Given the description of an element on the screen output the (x, y) to click on. 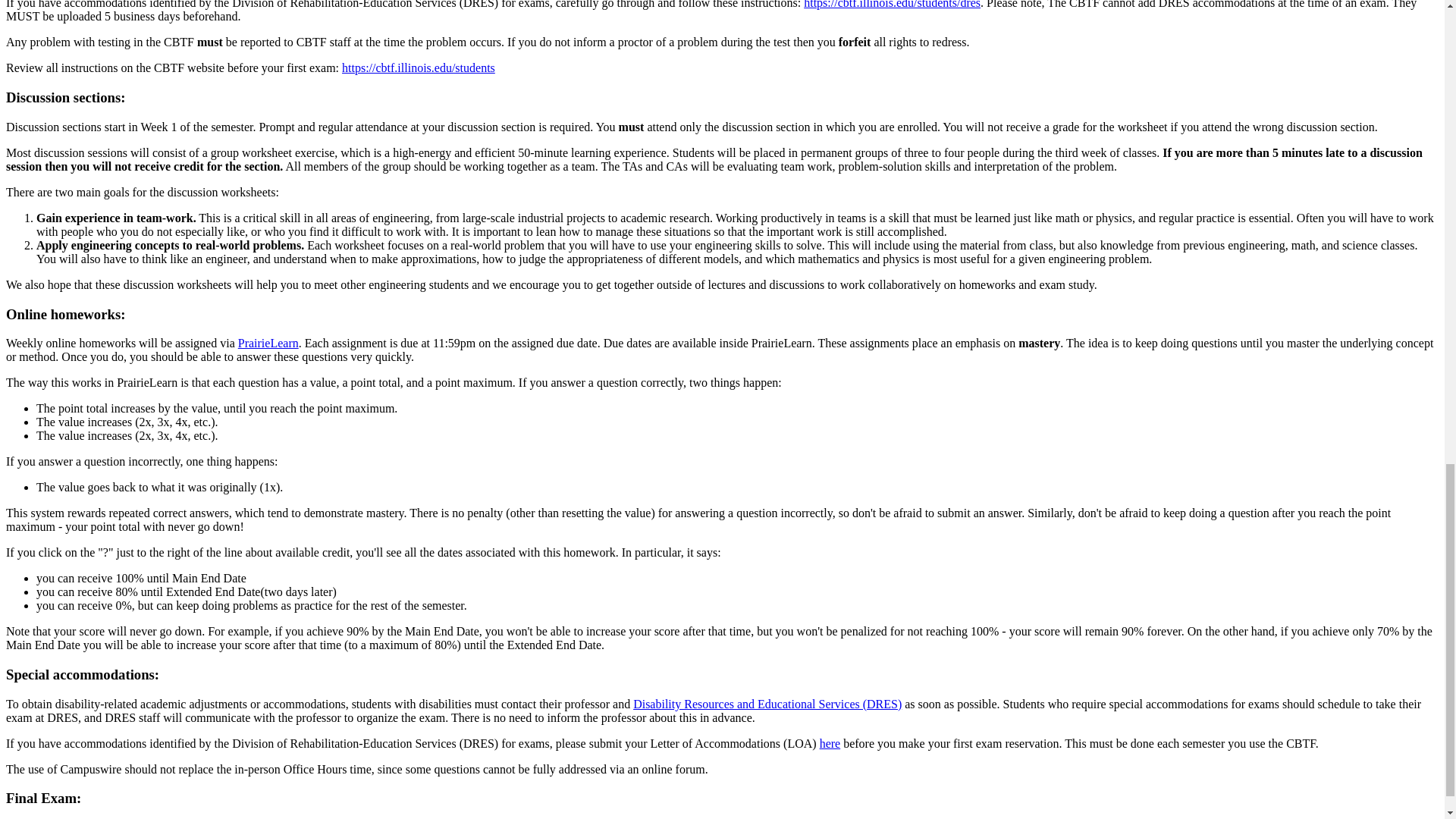
Special accommodations (79, 674)
PrairieLearn (268, 342)
Online homeworks (62, 314)
here (830, 743)
Discussion sections (62, 97)
Final Exam (41, 797)
